Given the description of an element on the screen output the (x, y) to click on. 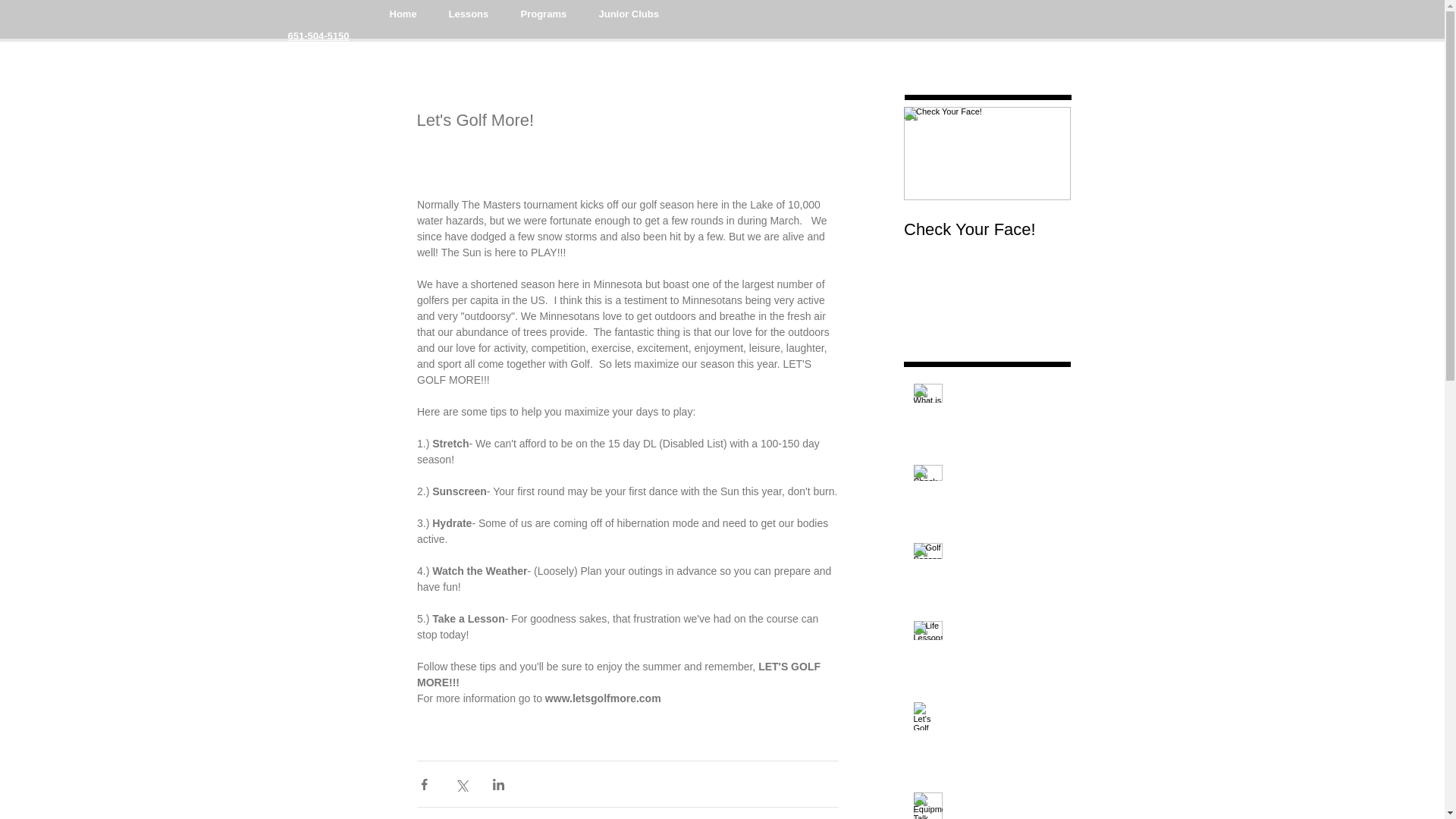
Junior Clubs (628, 13)
Programs (544, 13)
Facebook Like (1158, 60)
What is "Short-Sided"? (1006, 393)
Let's Golf More! (1006, 711)
Equipment Talk (1006, 802)
Lessons (467, 13)
Check Your Face! (987, 229)
Life Lessons of Jr League (1006, 637)
Check Your Face! (1006, 474)
